Given the description of an element on the screen output the (x, y) to click on. 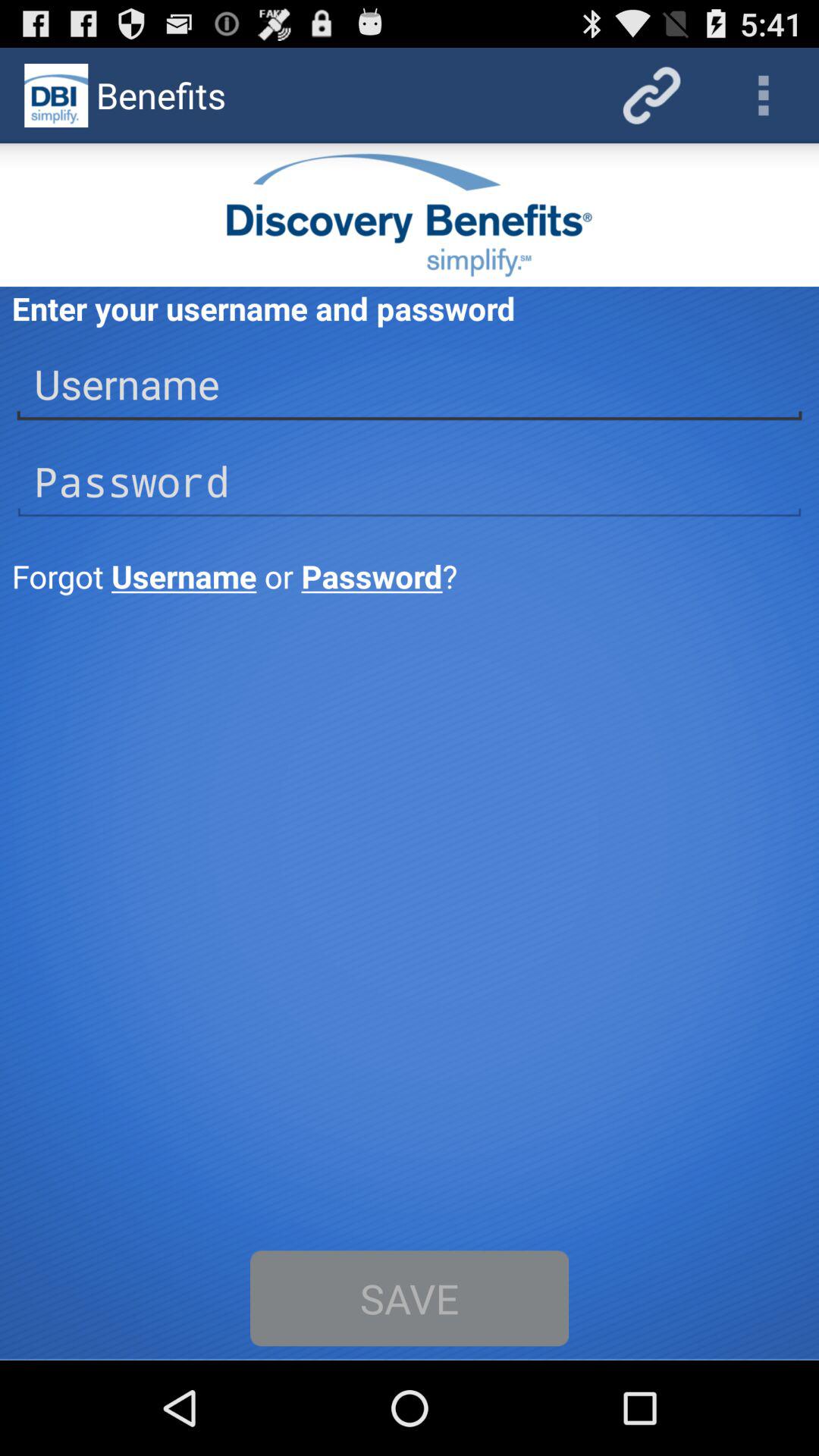
enter password (409, 481)
